Given the description of an element on the screen output the (x, y) to click on. 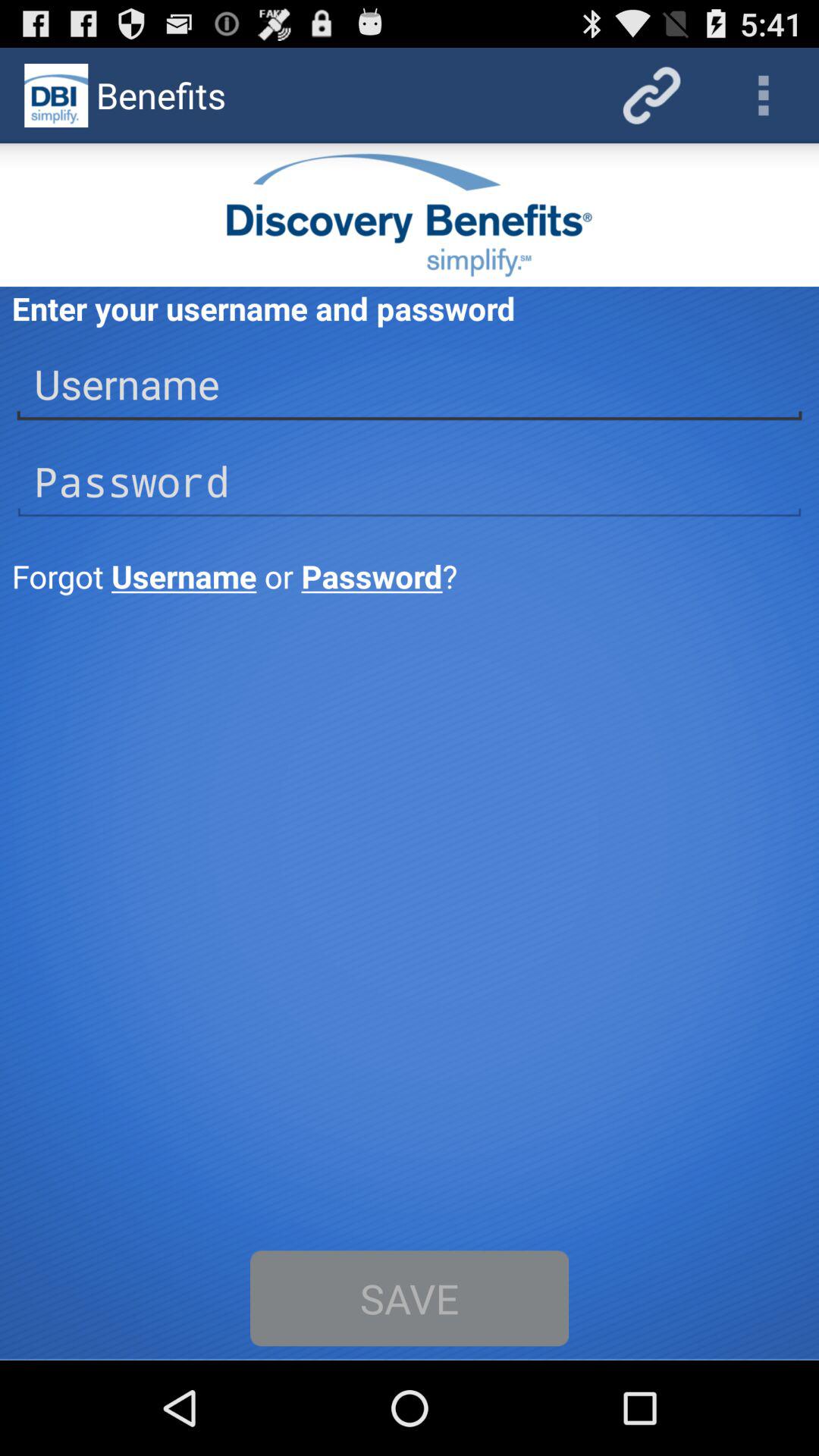
enter password (409, 481)
